Given the description of an element on the screen output the (x, y) to click on. 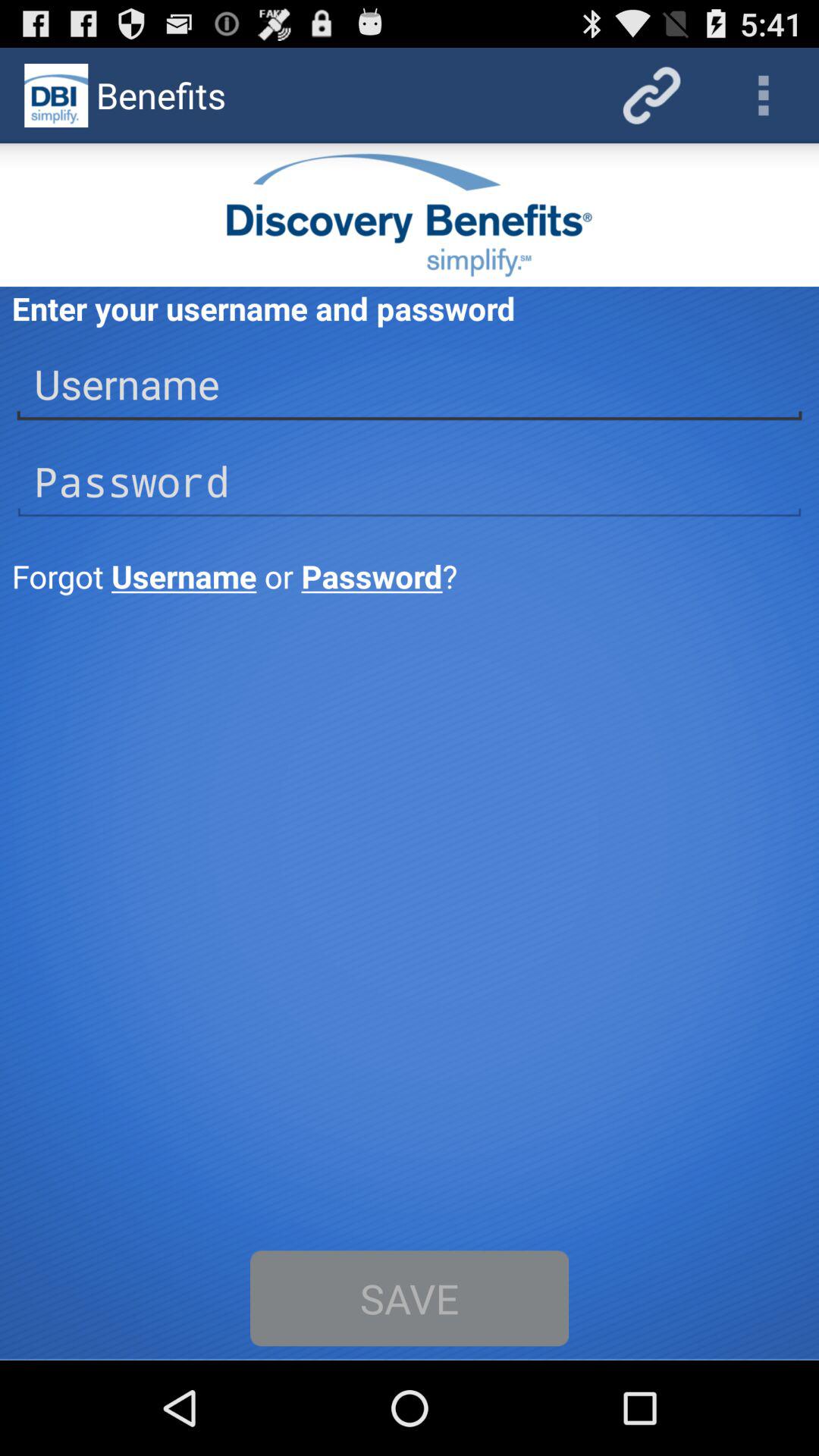
enter password (409, 481)
